Given the description of an element on the screen output the (x, y) to click on. 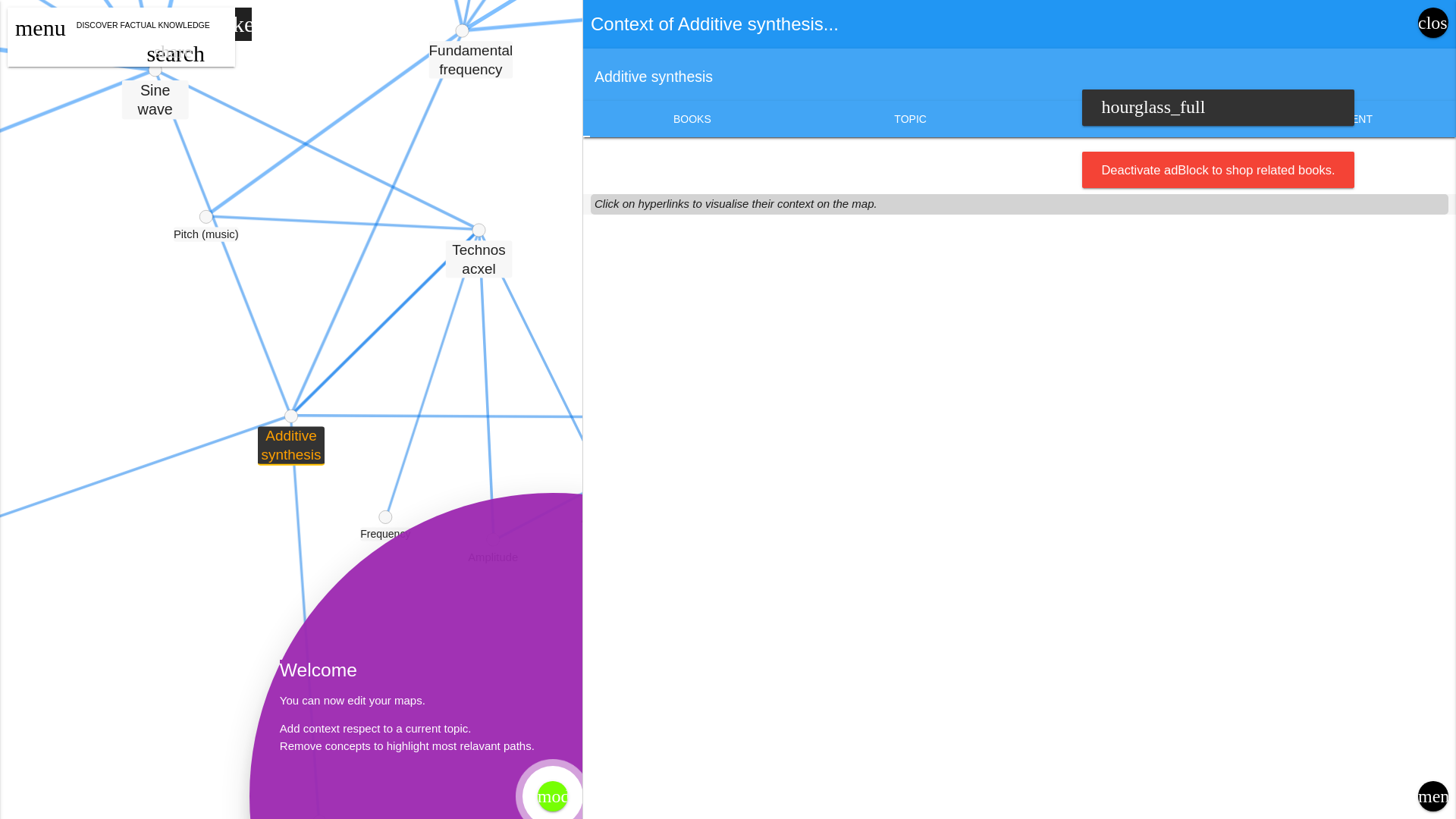
share (173, 52)
search (176, 54)
DISCOVER FACTUAL KNOWLEDGE (138, 21)
menu (39, 28)
